Given the description of an element on the screen output the (x, y) to click on. 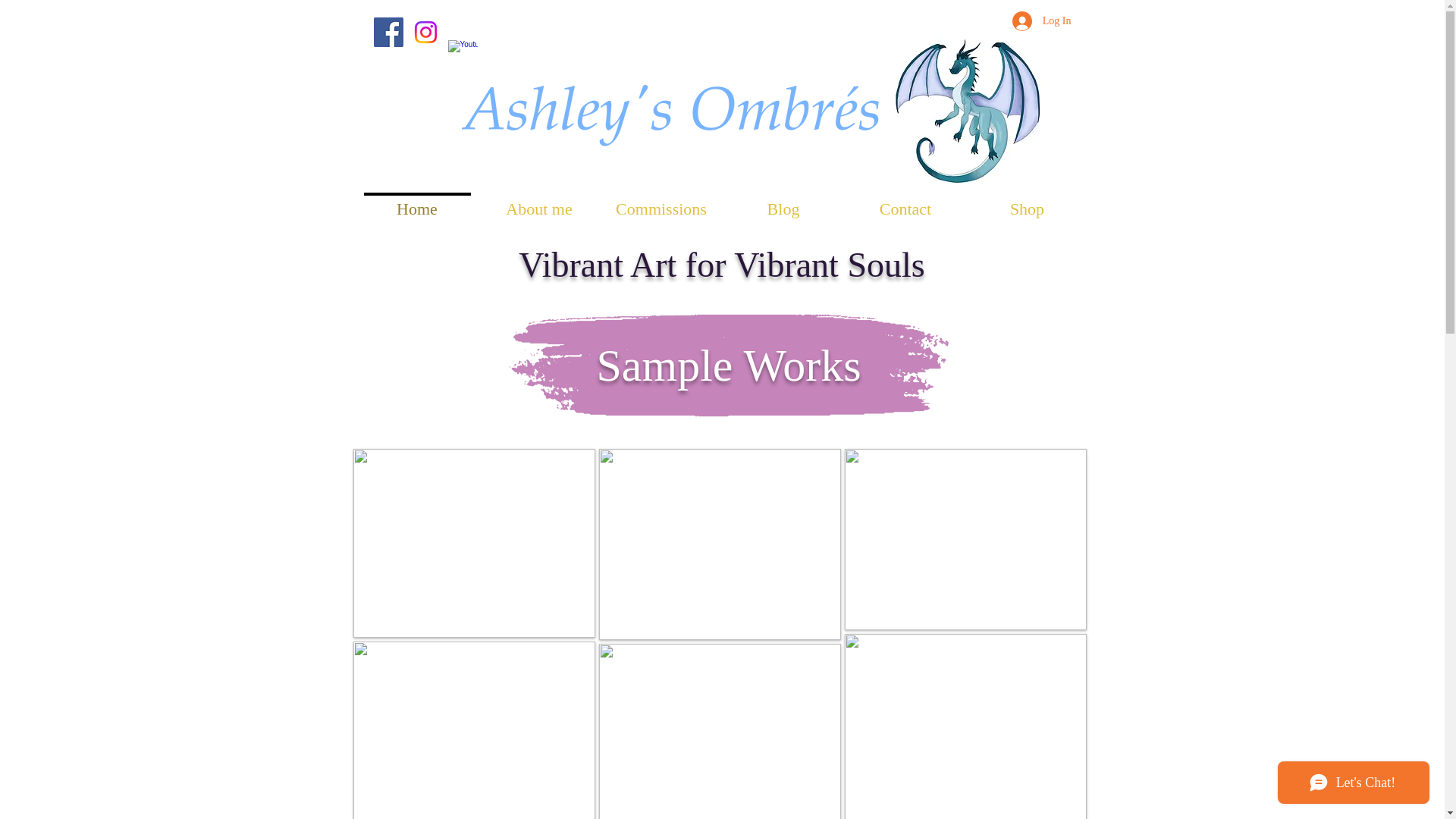
Log In (1041, 21)
About me (538, 201)
Commissions (660, 201)
Purple Sky Profile Header.png (727, 365)
Blog (783, 201)
Home (417, 201)
Contact (905, 201)
Shop (1026, 201)
